Given the description of an element on the screen output the (x, y) to click on. 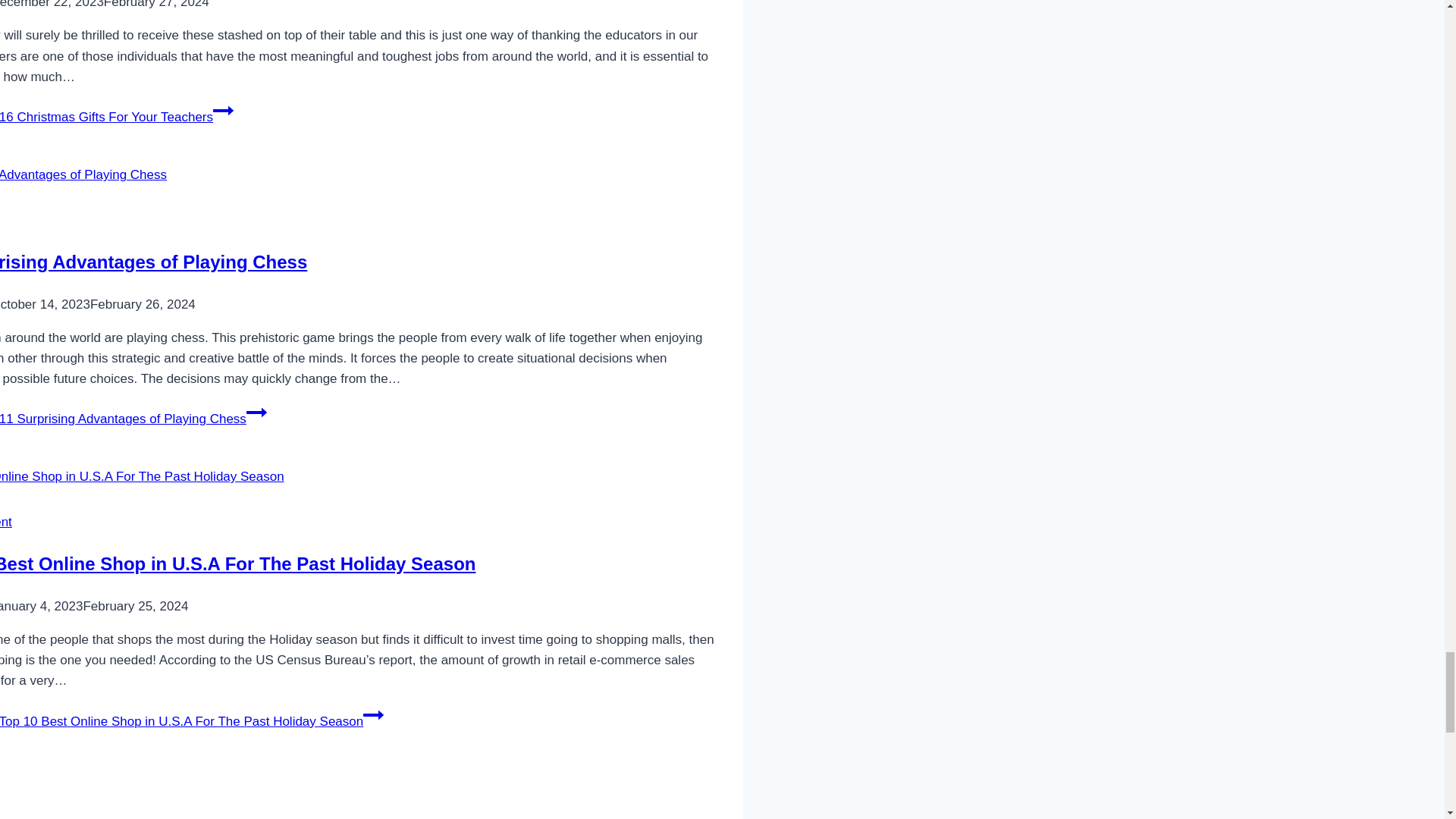
Read More 11 Surprising Advantages of Playing ChessContinue (133, 418)
Continue (373, 714)
Continue (222, 110)
11 Surprising Advantages of Playing Chess (153, 261)
Read More 16 Christmas Gifts For Your TeachersContinue (116, 116)
Continue (256, 412)
